Given the description of an element on the screen output the (x, y) to click on. 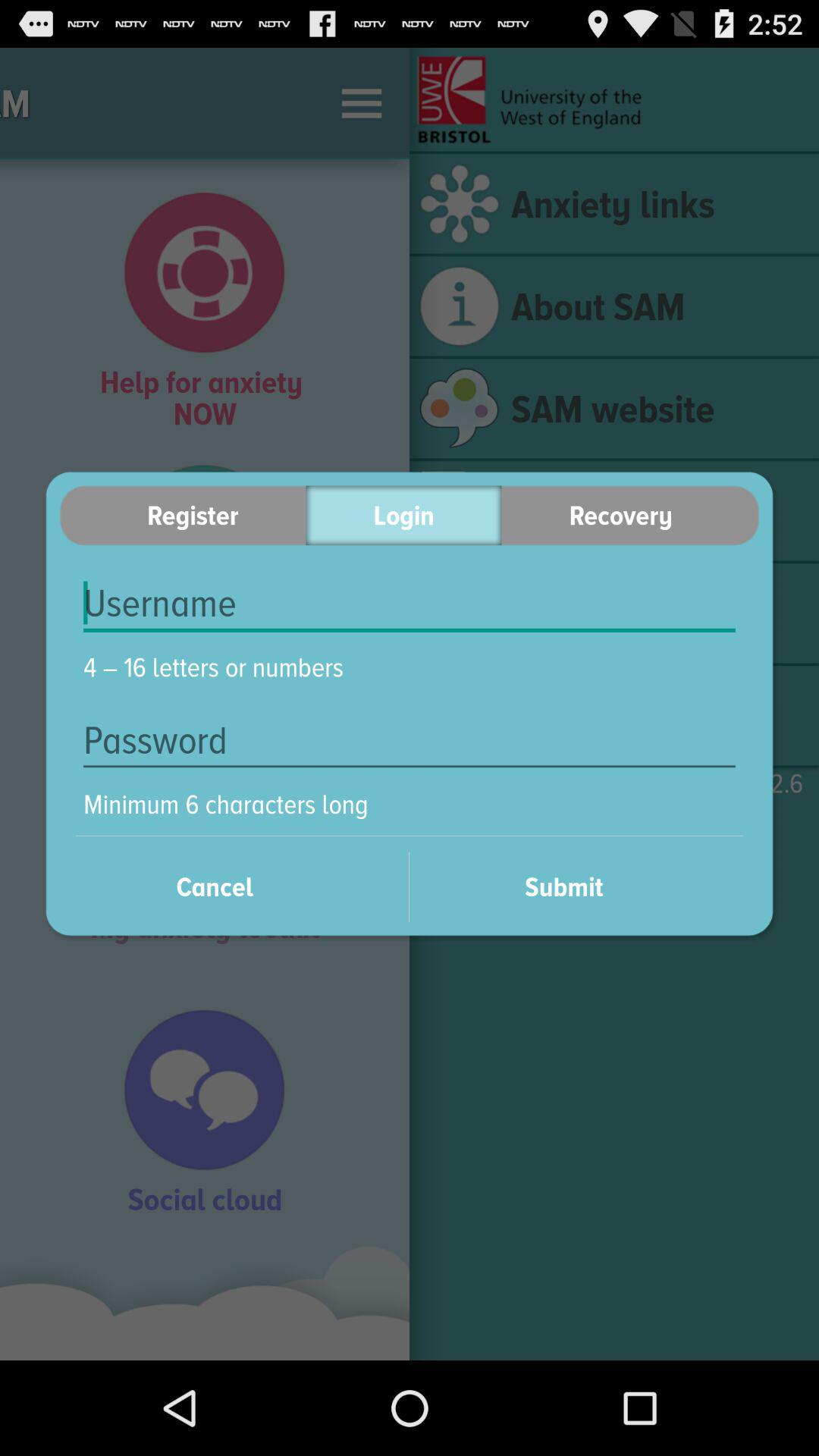
click login item (403, 515)
